Given the description of an element on the screen output the (x, y) to click on. 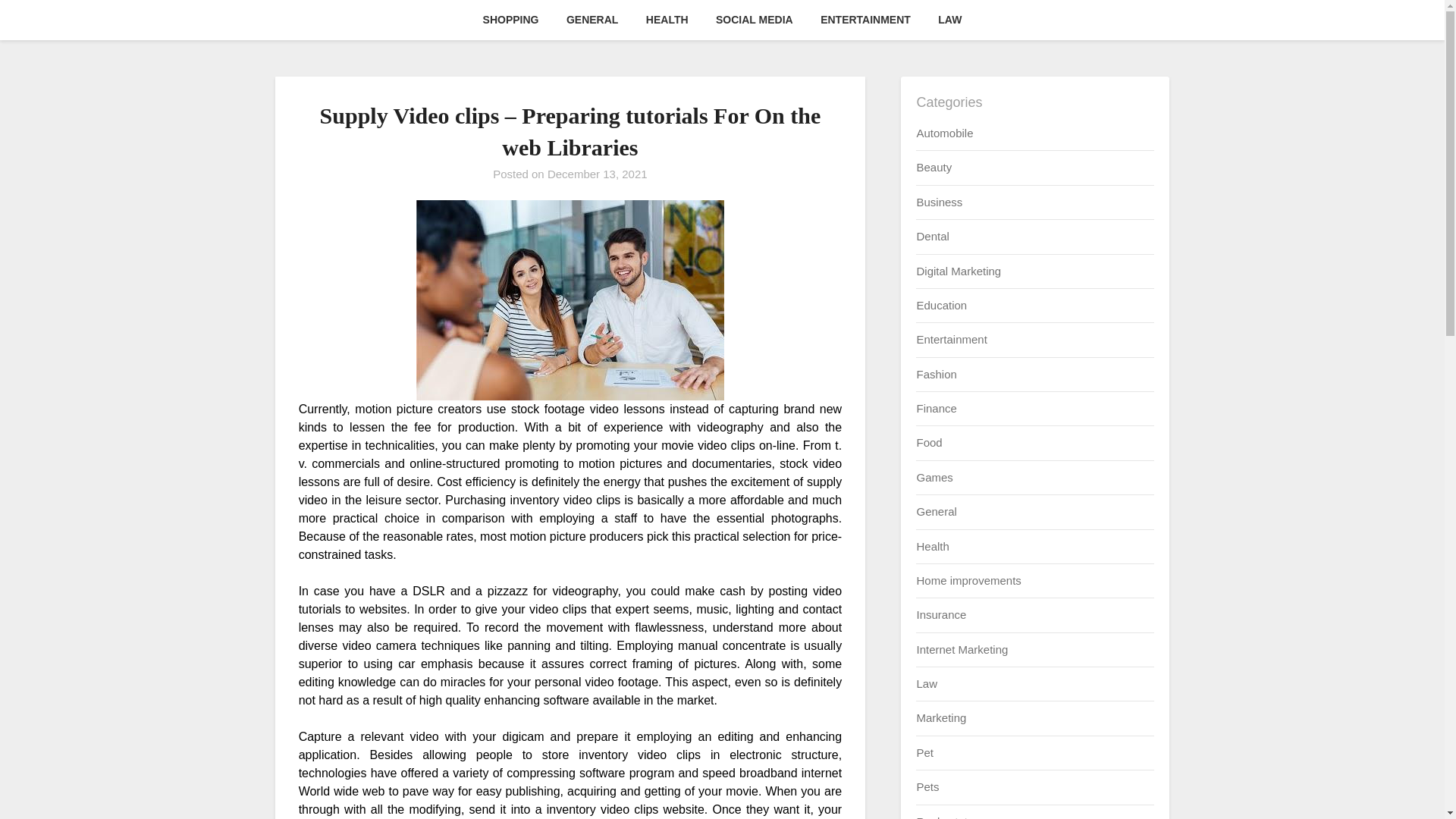
Real estate (944, 816)
December 13, 2021 (597, 173)
ENTERTAINMENT (865, 20)
Health (932, 545)
SOCIAL MEDIA (754, 20)
General (935, 511)
Entertainment (951, 338)
Pets (927, 786)
GENERAL (592, 20)
LAW (950, 20)
